Given the description of an element on the screen output the (x, y) to click on. 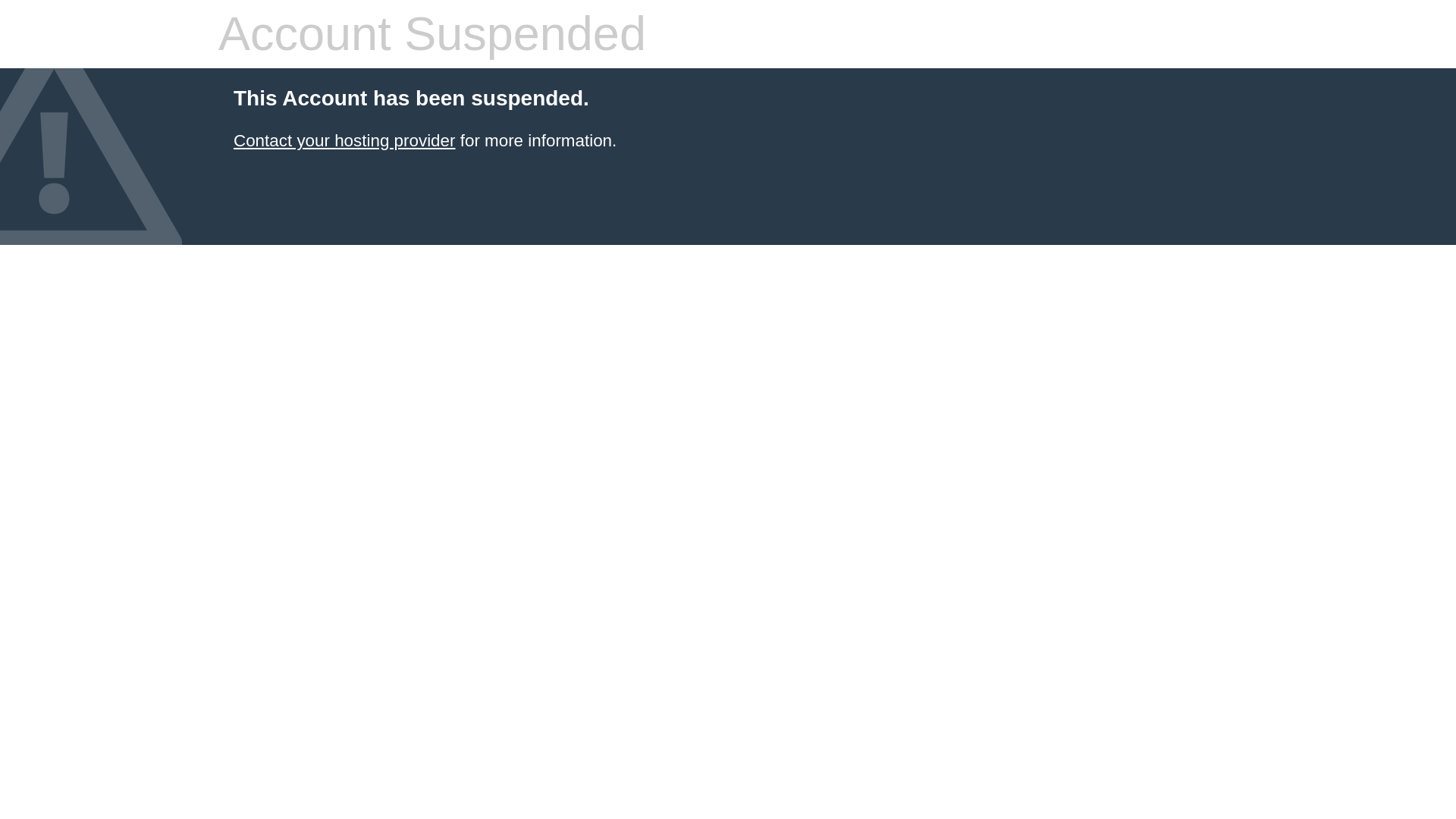
Contact your hosting provider (343, 140)
